Given the description of an element on the screen output the (x, y) to click on. 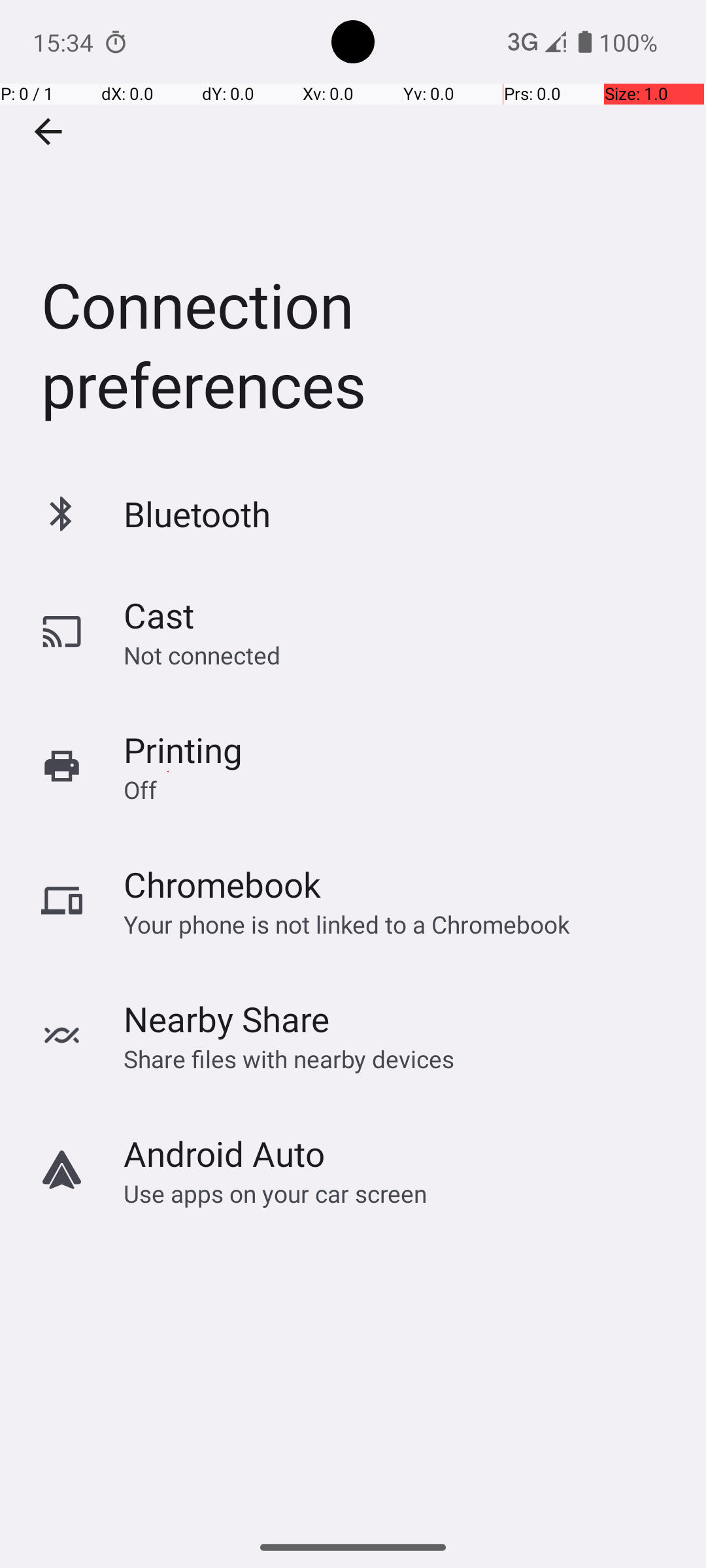
Bluetooth Element type: android.widget.TextView (197, 513)
Cast Element type: android.widget.TextView (158, 614)
Not connected Element type: android.widget.TextView (201, 654)
Printing Element type: android.widget.TextView (182, 749)
Chromebook Element type: android.widget.TextView (222, 884)
Your phone is not linked to a Chromebook Element type: android.widget.TextView (346, 923)
Share files with nearby devices Element type: android.widget.TextView (288, 1058)
Use apps on your car screen Element type: android.widget.TextView (275, 1192)
